Given the description of an element on the screen output the (x, y) to click on. 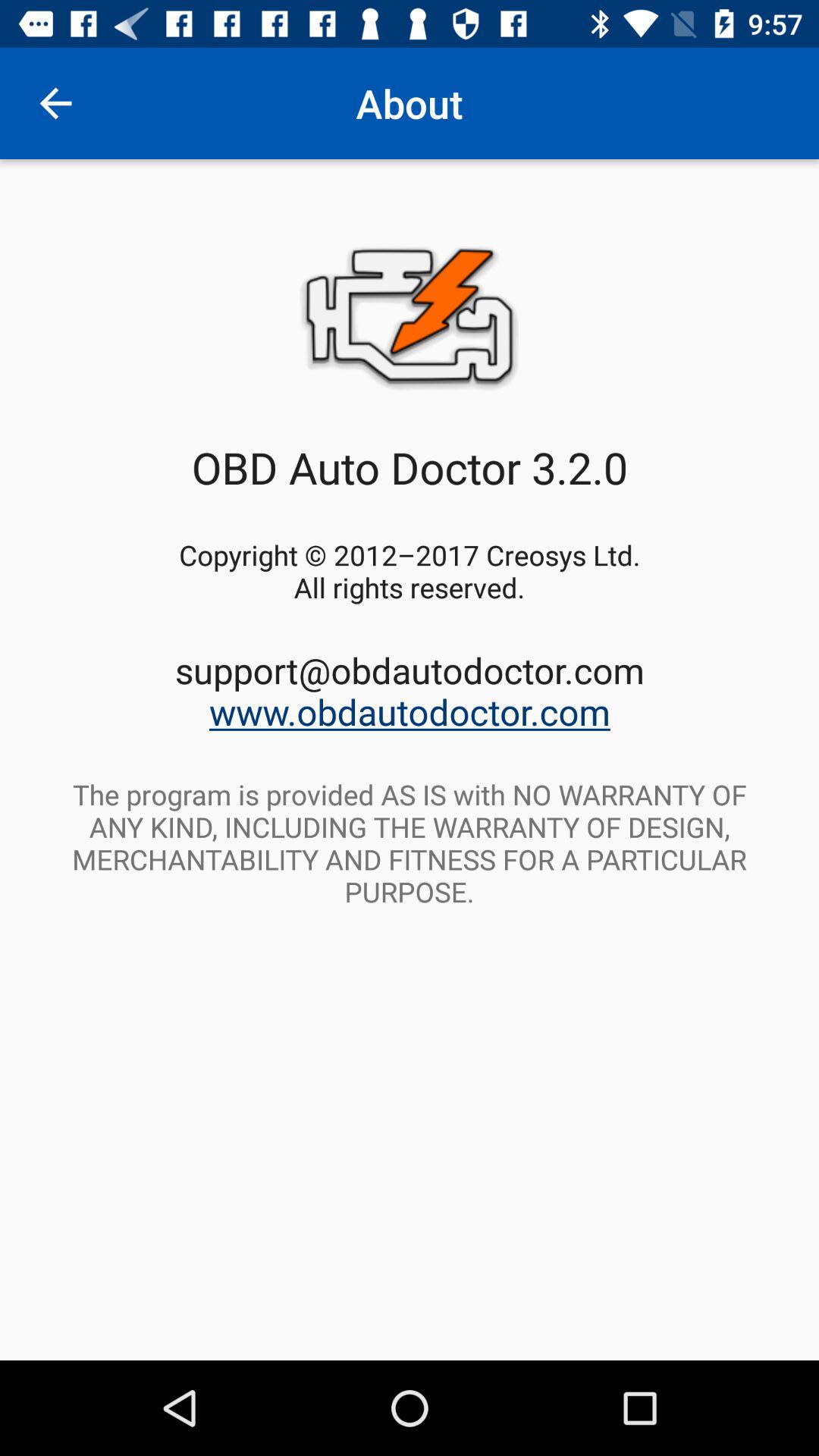
turn on the icon below copyright 2012 2017 item (409, 690)
